Given the description of an element on the screen output the (x, y) to click on. 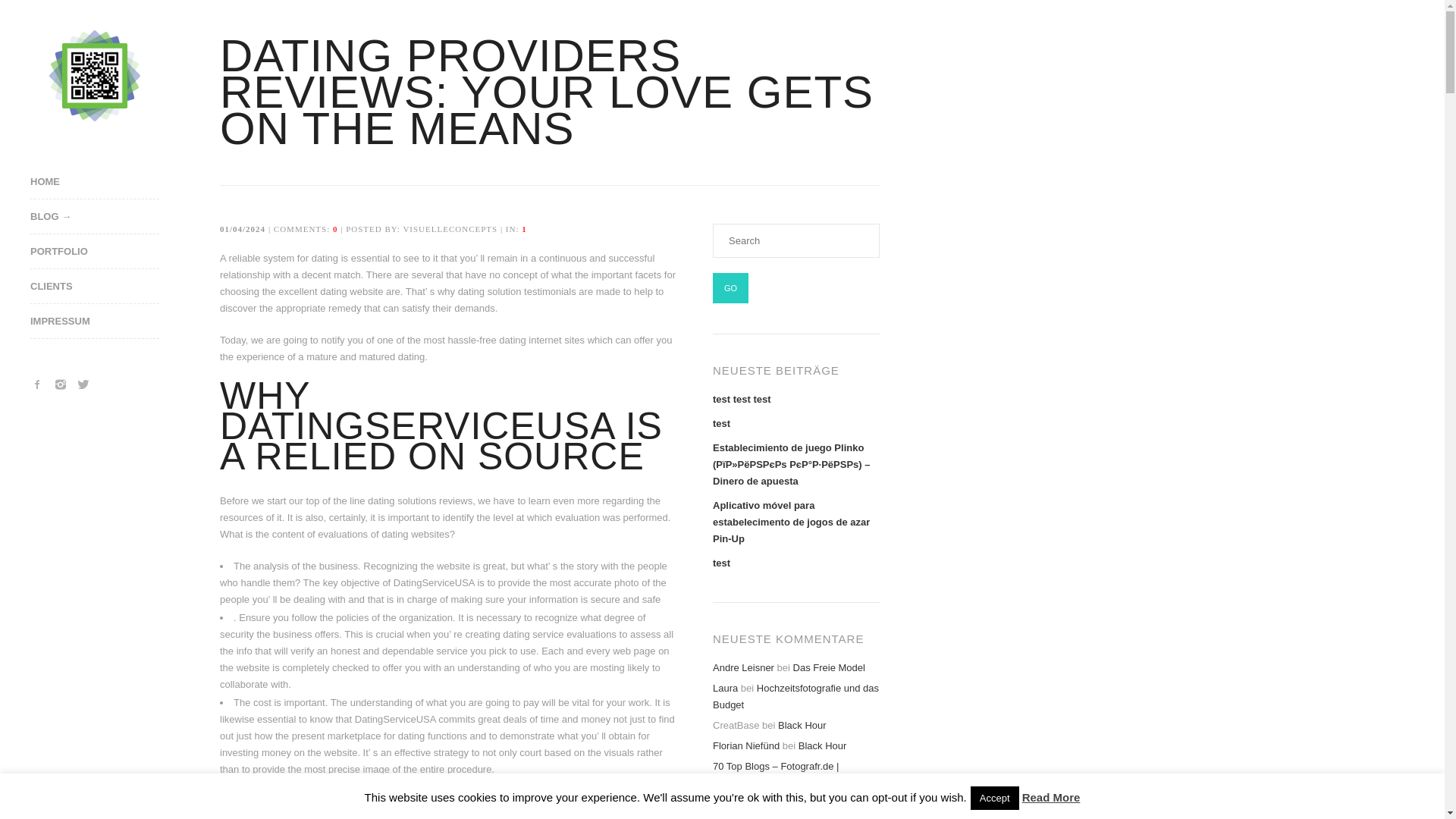
HOME (109, 181)
Twitter (82, 384)
Go (730, 287)
VisuelleConcepts (94, 75)
Go (730, 287)
BLOG (109, 216)
TWITTER (82, 384)
Laura (725, 687)
Instagram (60, 384)
test test test (742, 398)
FACEBOOK (37, 384)
test (721, 423)
4 things guys notice about your body (330, 808)
test (721, 562)
PORTFOLIO (109, 251)
